Given the description of an element on the screen output the (x, y) to click on. 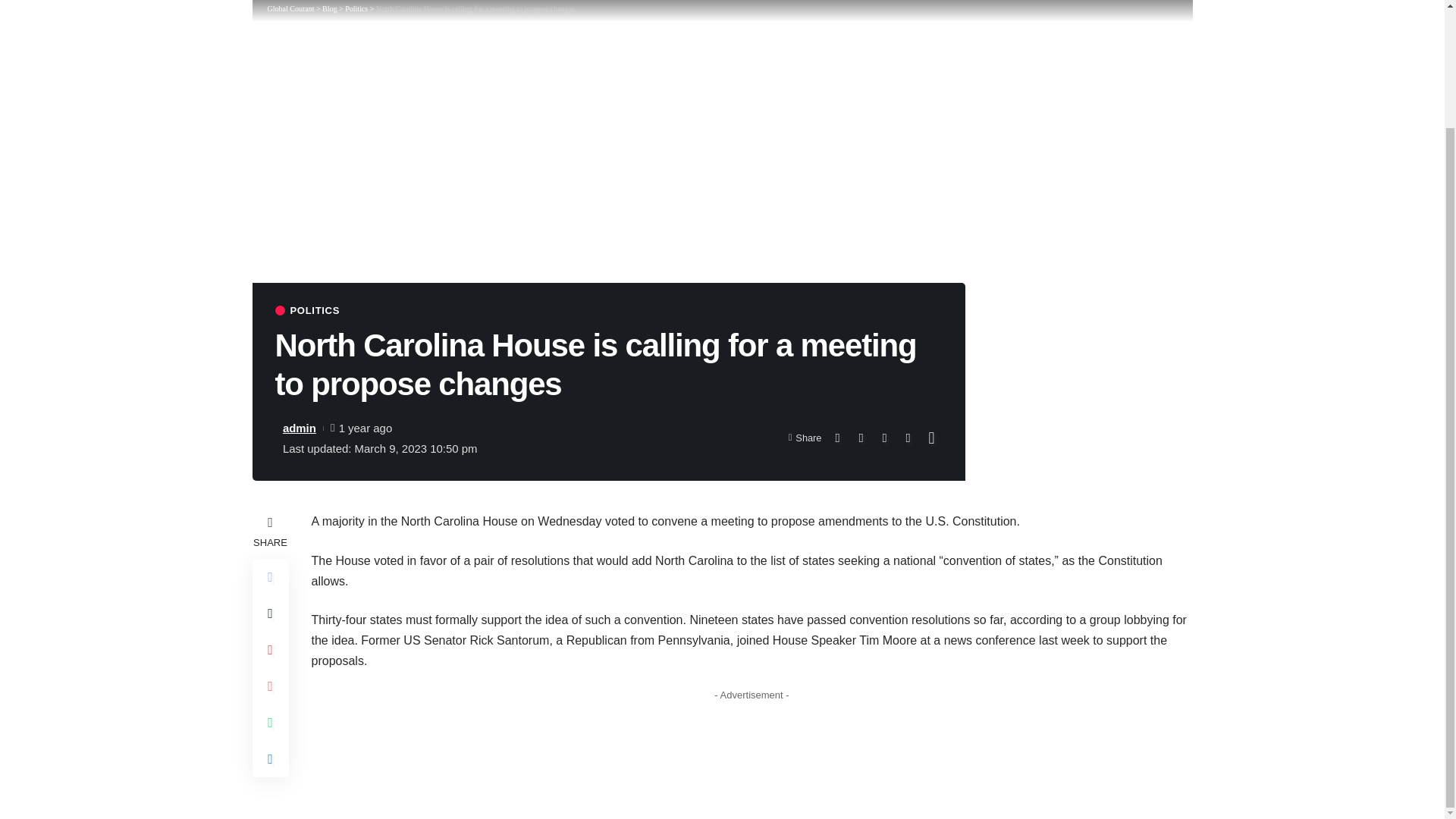
Go to Blog. (328, 8)
Go to Global Courant. (290, 8)
Go to the Politics Category archives. (356, 8)
